Given the description of an element on the screen output the (x, y) to click on. 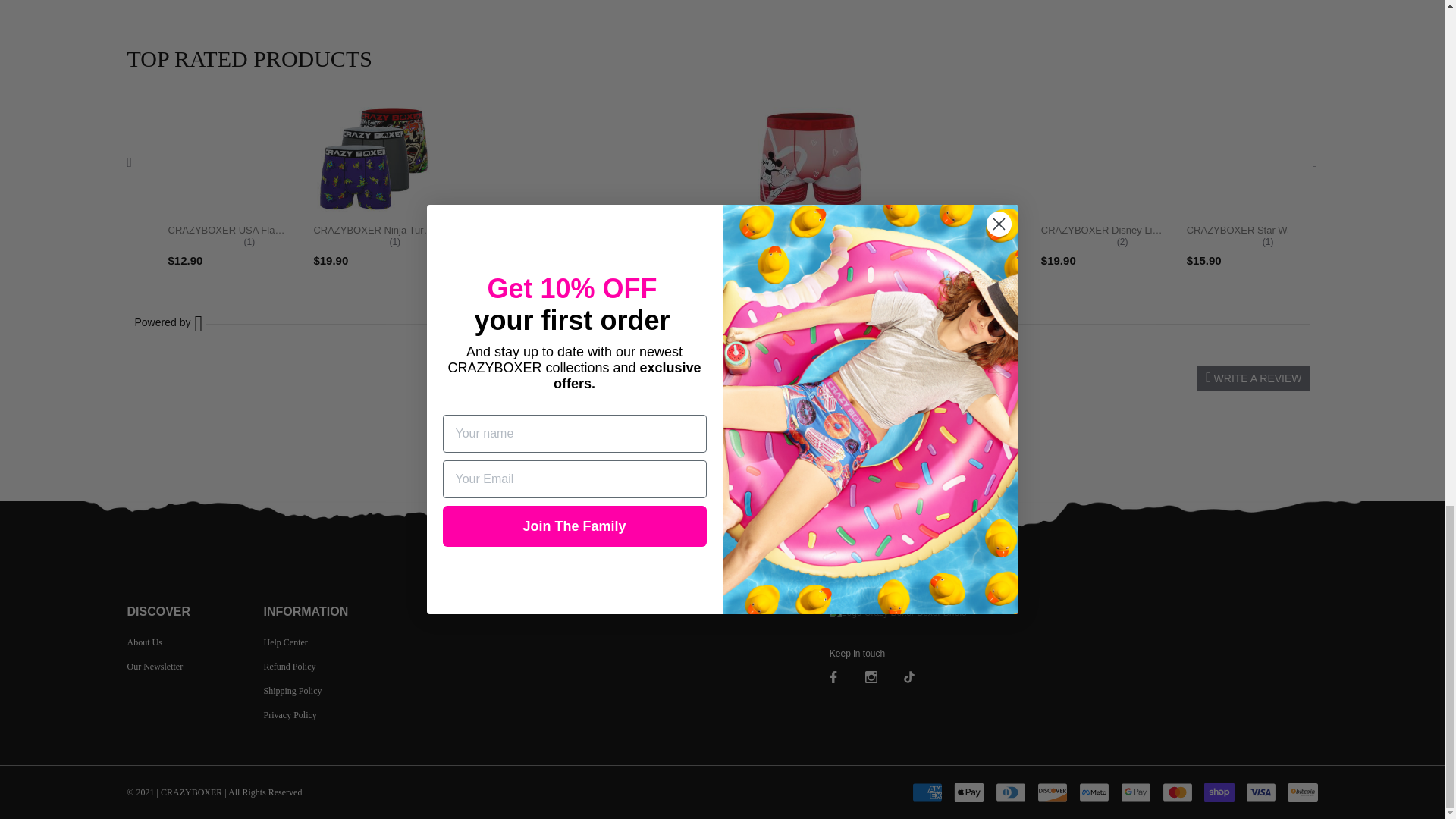
Diners Club (1009, 792)
Discover (1051, 792)
American Express (926, 792)
Meta Pay (1093, 792)
Apple Pay (968, 792)
